Given the description of an element on the screen output the (x, y) to click on. 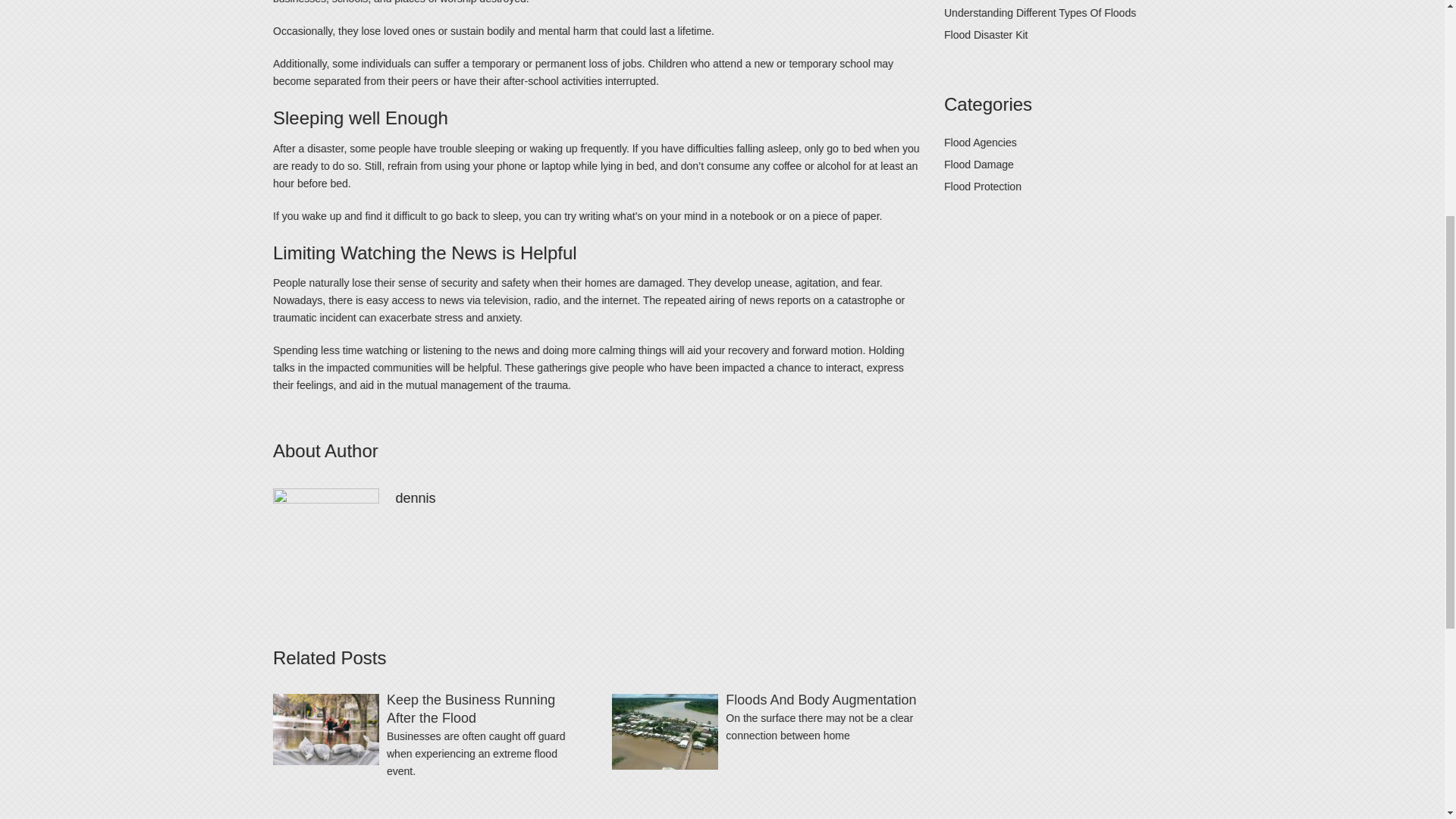
Floods And Body Augmentation (820, 699)
Keep the Business Running After the Flood (470, 708)
Flood Disaster Kit (985, 34)
Understanding Different Types Of Floods (1039, 12)
Floods And Body Augmentation (820, 699)
Flood Protection (982, 186)
Flood Damage (978, 164)
Flood Agencies (979, 142)
Keep the Business Running After the Flood (470, 708)
